Given the description of an element on the screen output the (x, y) to click on. 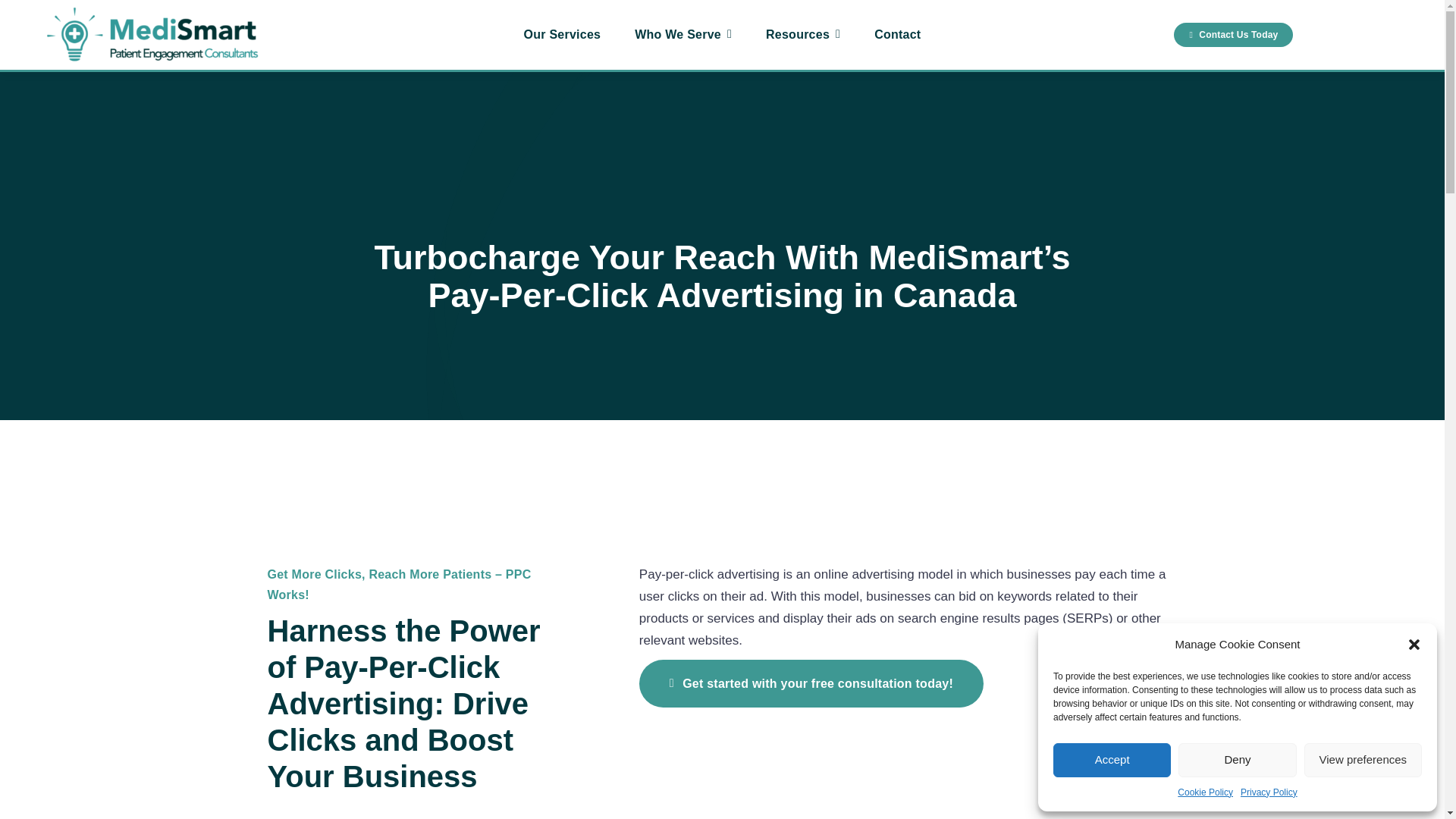
Get started with your free consultation today! (811, 683)
Resources (802, 34)
Cookie Policy (1205, 792)
View preferences (1363, 759)
Privacy Policy (1268, 792)
Who We Serve (683, 34)
Deny (1236, 759)
Our Services (562, 34)
Accept (1111, 759)
Contact Us Today (1232, 34)
Contact (897, 34)
